Given the description of an element on the screen output the (x, y) to click on. 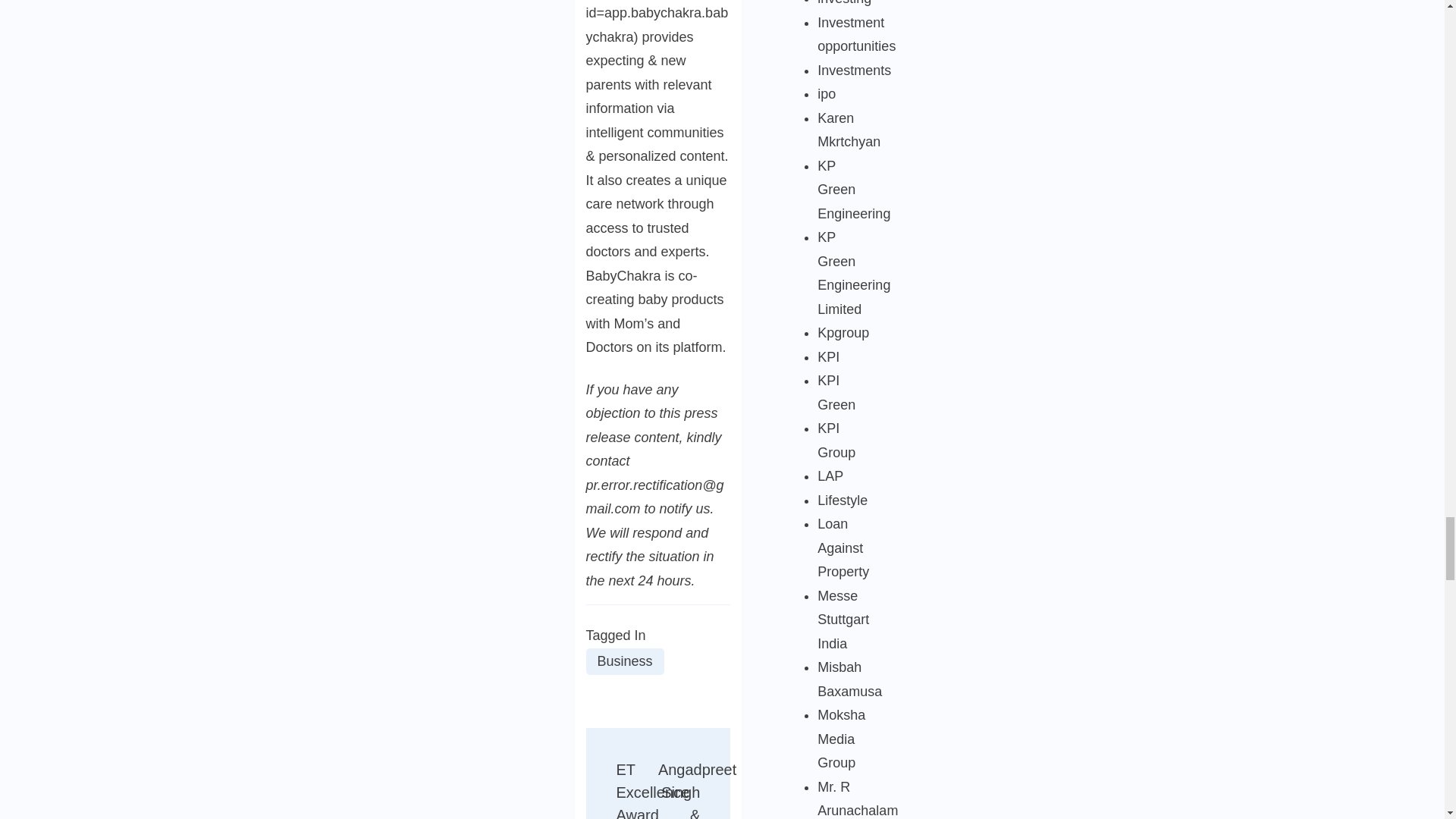
Business (624, 661)
